Given the description of an element on the screen output the (x, y) to click on. 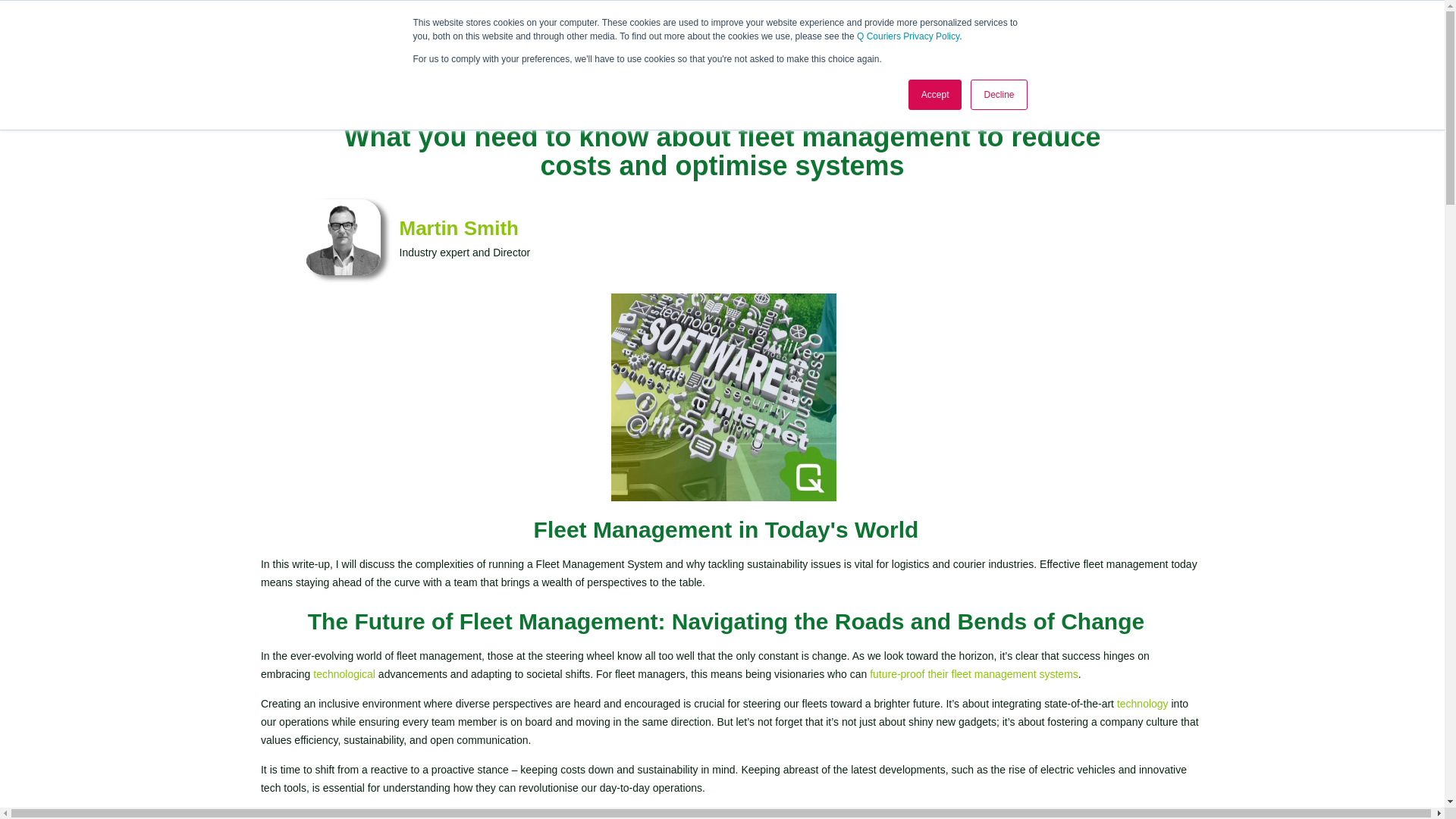
Fleet Management Software of 2024 6 (342, 237)
ABOUT (1036, 40)
CONTACT (1267, 40)
SERVICES (1135, 40)
Martin Smith (769, 228)
NEWS (1082, 40)
Fleet Management Software of 2024 7 (723, 397)
Accept (935, 94)
Q Couriers Privacy Policy (908, 36)
Decline (998, 94)
future-proof their fleet management systems (973, 674)
HOME (990, 40)
technological (344, 674)
technology (1142, 703)
LOCATIONS (1201, 40)
